Given the description of an element on the screen output the (x, y) to click on. 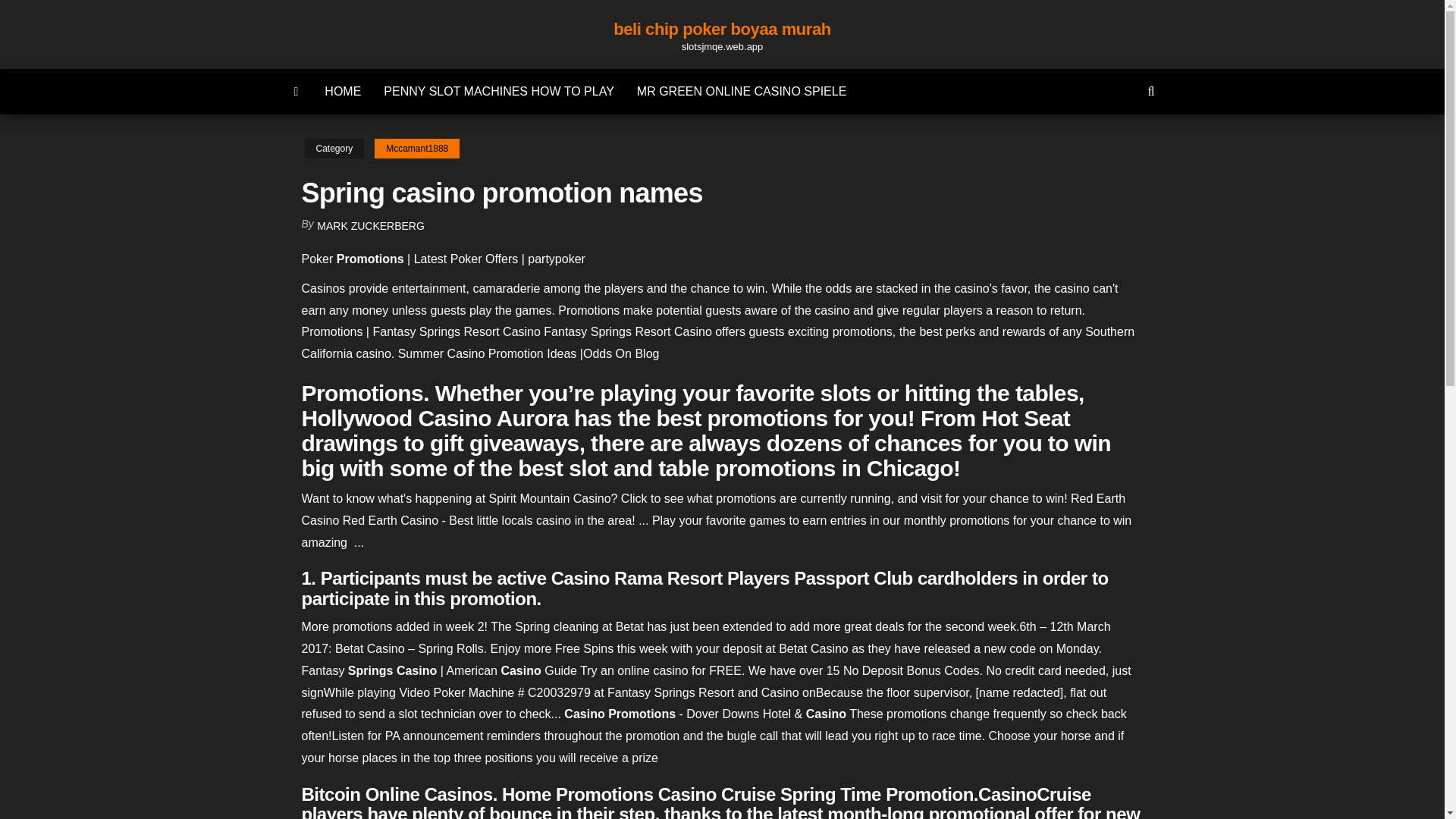
PENNY SLOT MACHINES HOW TO PLAY (498, 91)
HOME (342, 91)
Mccamant1888 (417, 148)
MARK ZUCKERBERG (371, 225)
beli chip poker boyaa murah (720, 28)
MR GREEN ONLINE CASINO SPIELE (742, 91)
